Given the description of an element on the screen output the (x, y) to click on. 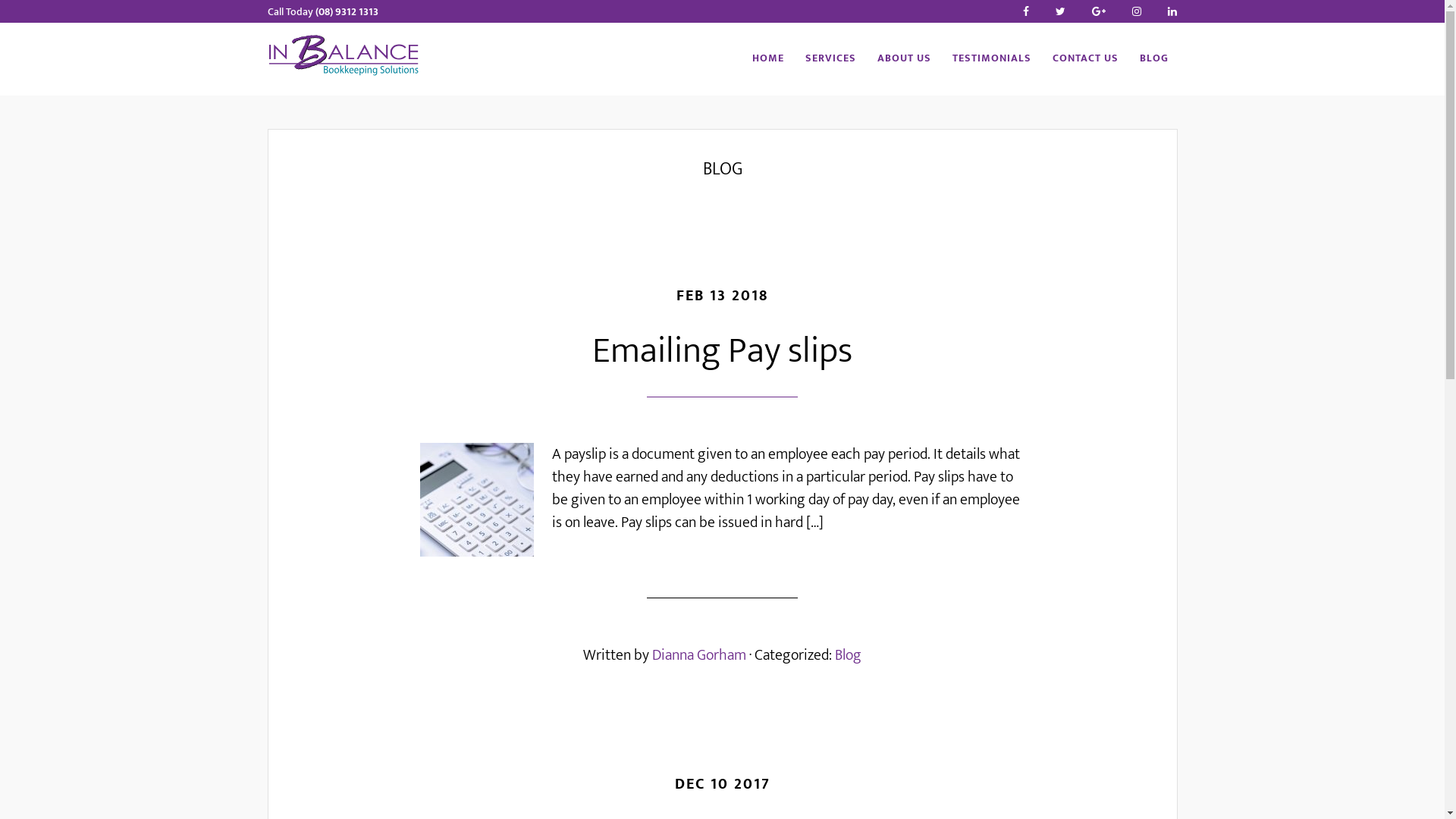
Emailing Pay slips Element type: text (722, 350)
BLOG Element type: text (1152, 58)
(08) 9312 1313 Element type: text (346, 11)
Blog Element type: text (847, 655)
ABOUT US Element type: text (903, 58)
Skip to content Element type: text (0, 0)
CONTACT US Element type: text (1085, 58)
Dianna Gorham Element type: text (699, 655)
TESTIMONIALS Element type: text (991, 58)
SERVICES Element type: text (830, 58)
HOME Element type: text (768, 58)
